Given the description of an element on the screen output the (x, y) to click on. 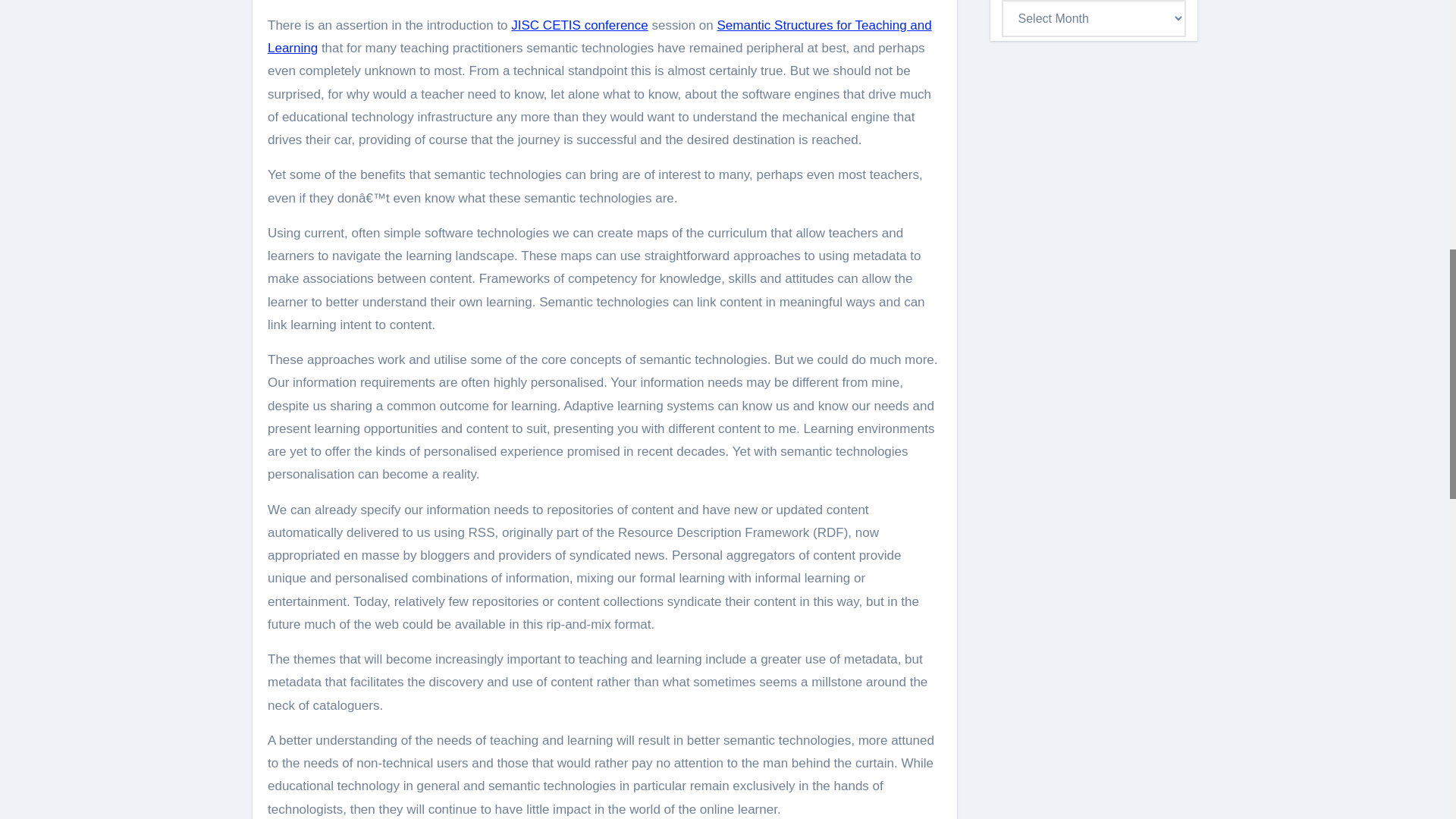
JISC CETIS conference (579, 25)
Semantic Structures for Teaching and Learning (599, 36)
